Given the description of an element on the screen output the (x, y) to click on. 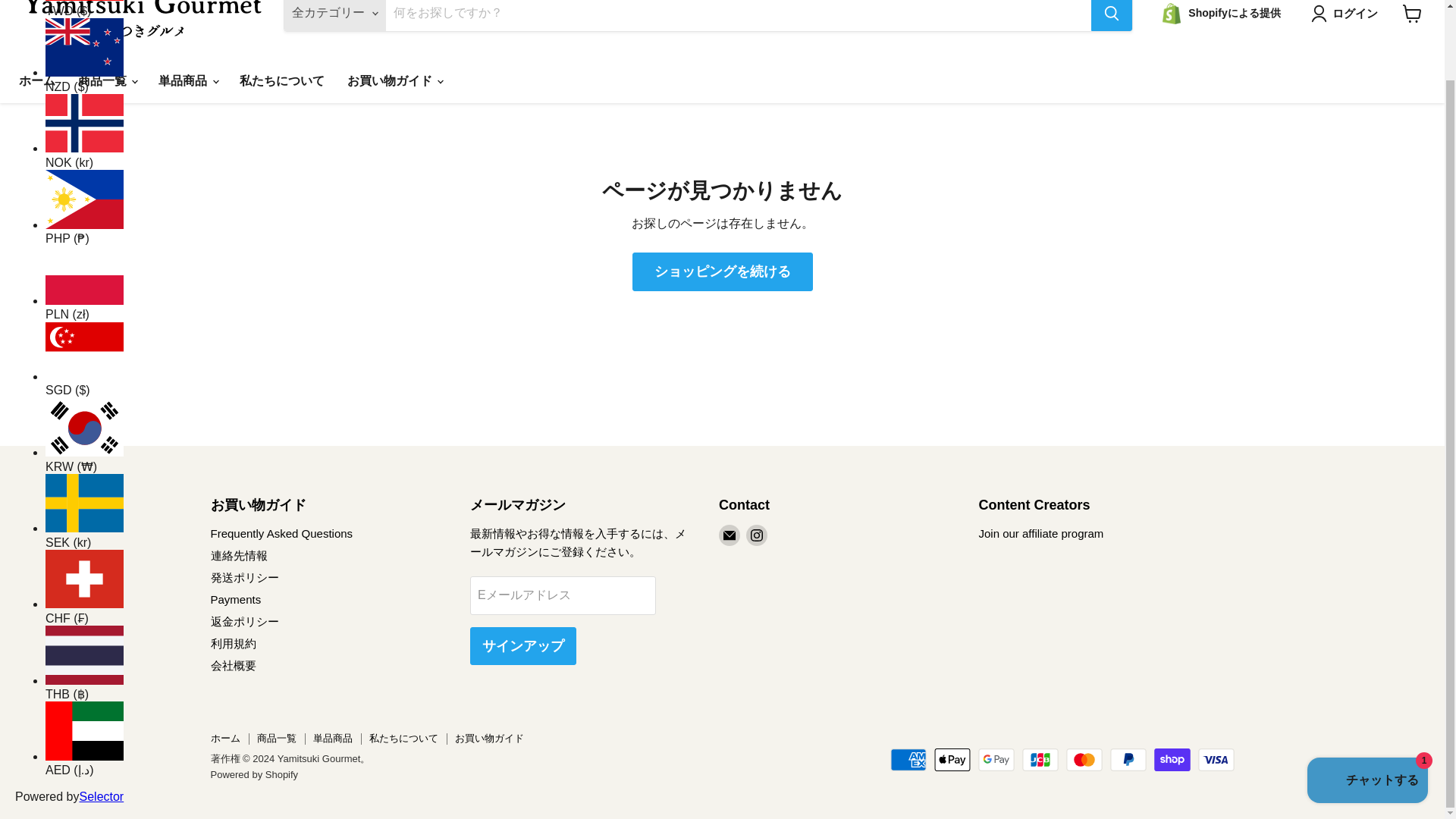
Visa (1216, 759)
Instagram (756, 535)
American Express (907, 759)
Shop Pay (1172, 759)
JCB (1040, 759)
Google Pay (996, 759)
Apple Pay (952, 759)
PayPal (1128, 759)
Mastercard (1083, 759)
